Given the description of an element on the screen output the (x, y) to click on. 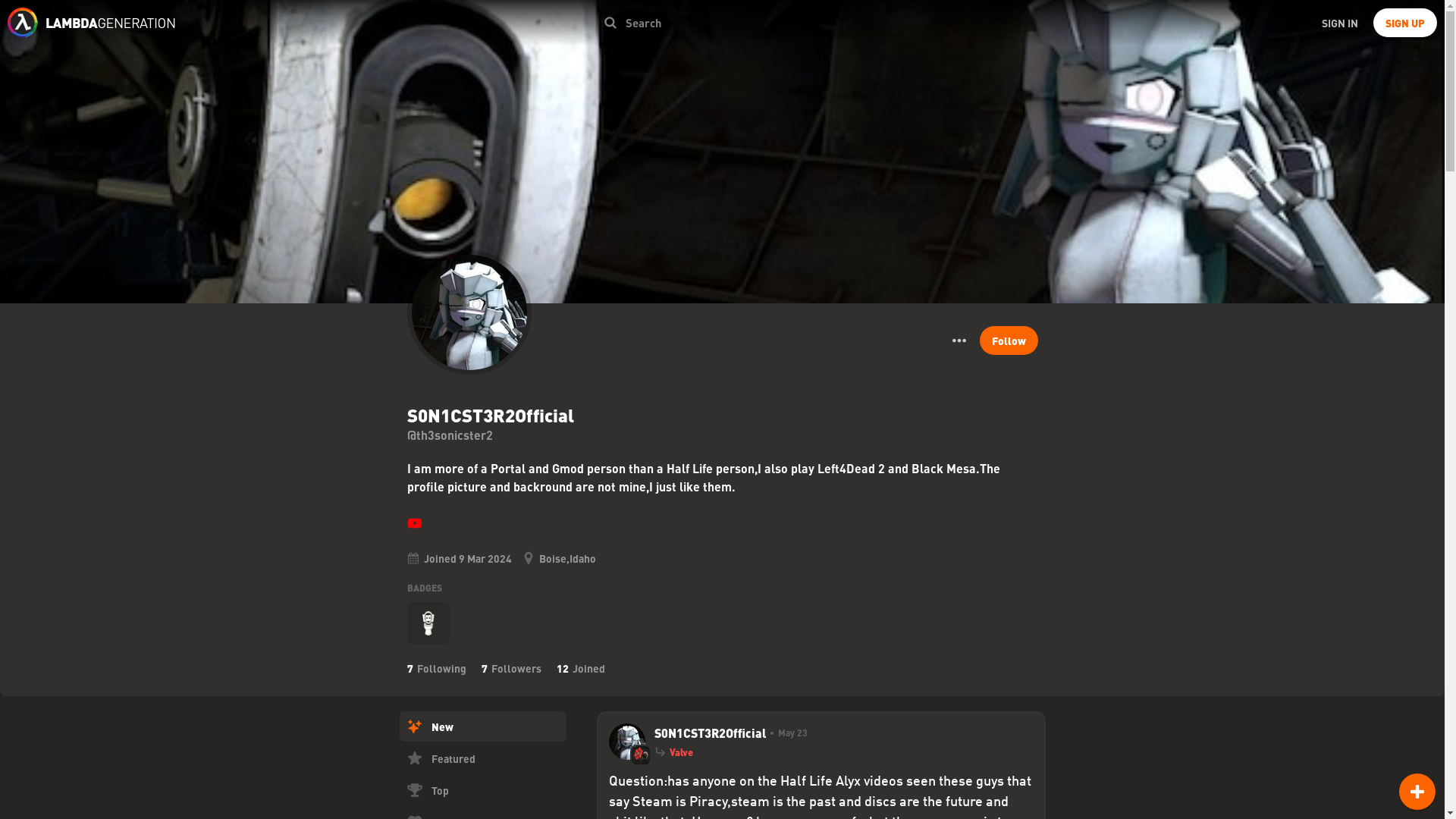
7 Following (435, 667)
Featured (482, 757)
Top (482, 789)
May 23 (786, 733)
YouTube (413, 523)
New (482, 726)
7 Followers (510, 667)
12 Joined (580, 667)
SIGN IN (1339, 22)
SIGN UP (1405, 22)
